Given the description of an element on the screen output the (x, y) to click on. 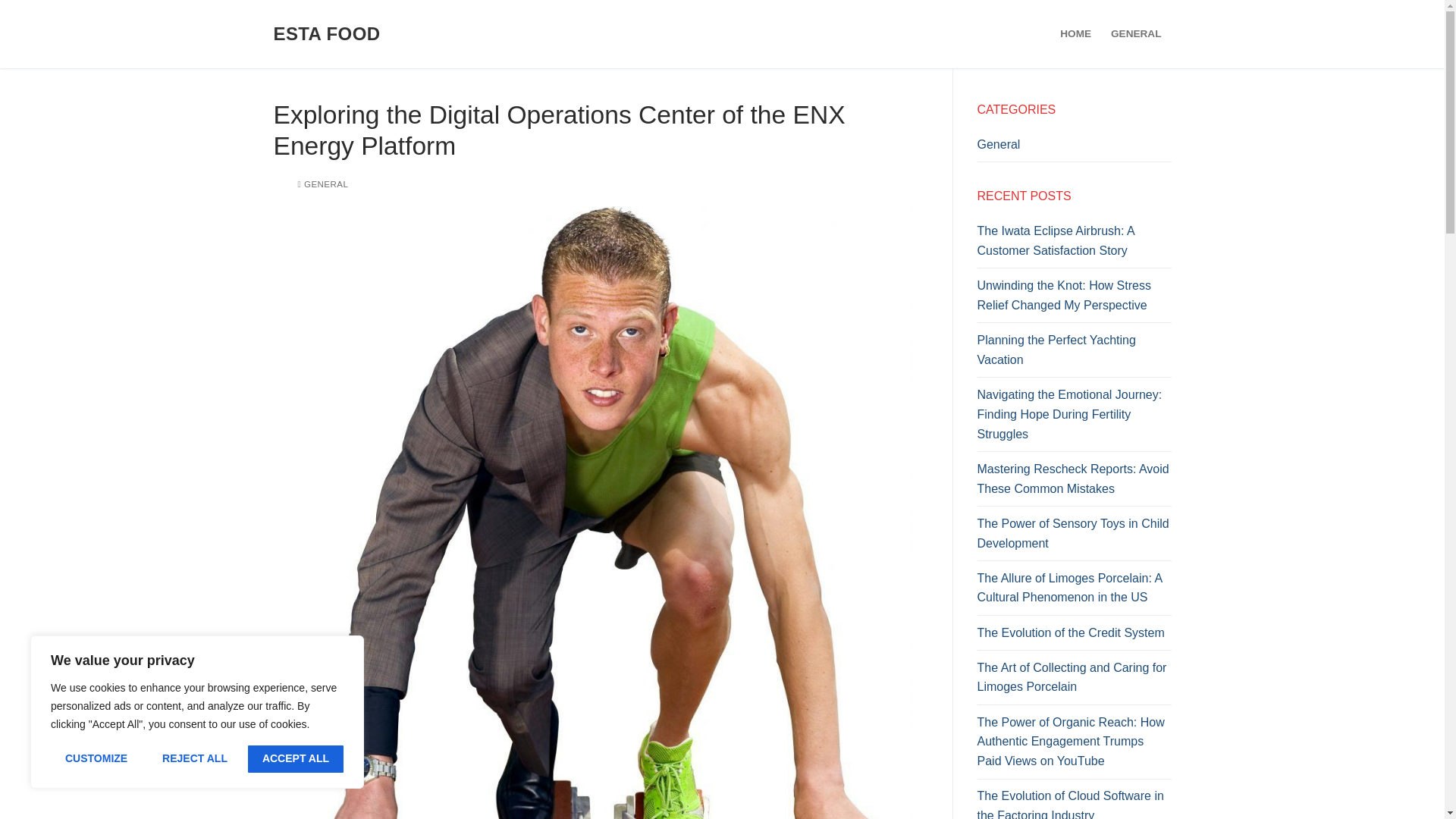
General (1073, 148)
Mastering Rescheck Reports: Avoid These Common Mistakes (1073, 482)
GENERAL (322, 184)
ACCEPT ALL (295, 759)
REJECT ALL (194, 759)
Planning the Perfect Yachting Vacation (1073, 353)
ESTA FOOD (326, 33)
The Iwata Eclipse Airbrush: A Customer Satisfaction Story (1073, 244)
Unwinding the Knot: How Stress Relief Changed My Perspective (1073, 299)
